Given the description of an element on the screen output the (x, y) to click on. 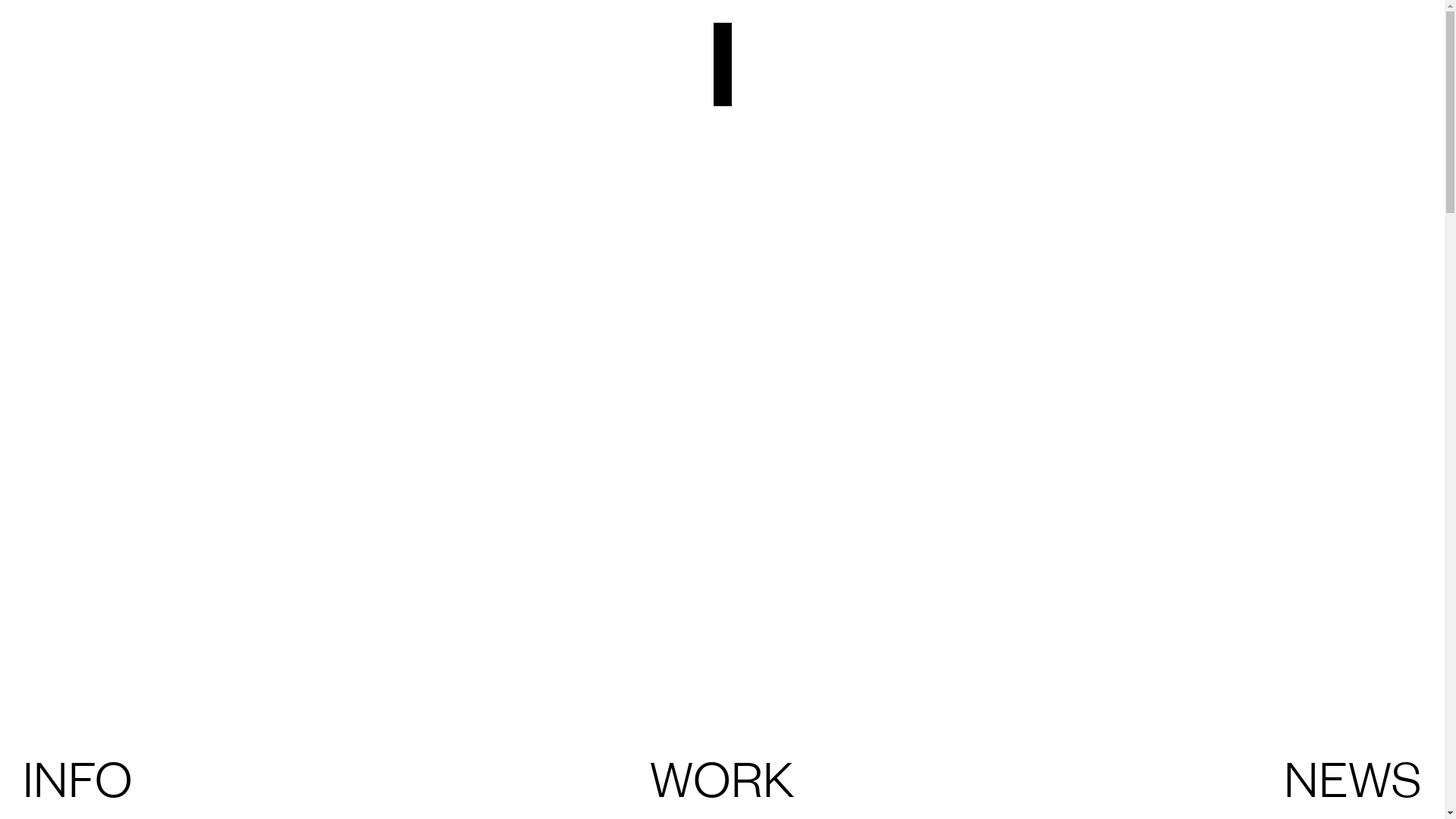
WORK Element type: text (721, 776)
NEWS Element type: text (1352, 776)
INFO Element type: text (77, 776)
